Given the description of an element on the screen output the (x, y) to click on. 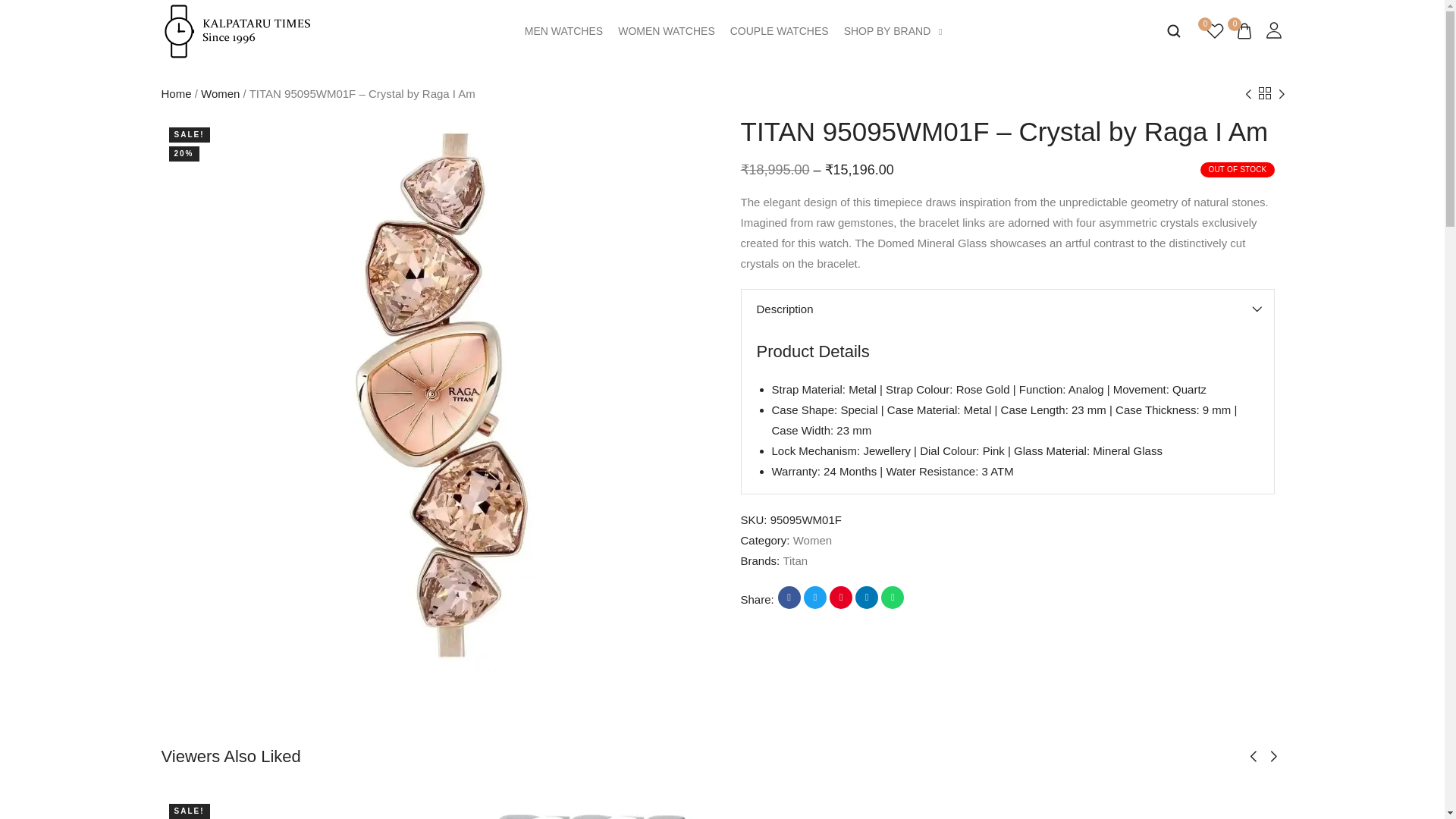
SHOP BY BRAND (893, 30)
Home (175, 92)
titan (795, 560)
Titan (795, 560)
COUPLE WATCHES (779, 30)
MEN WATCHES (563, 30)
Women (812, 540)
Women (220, 92)
WOMEN WATCHES (665, 30)
